Given the description of an element on the screen output the (x, y) to click on. 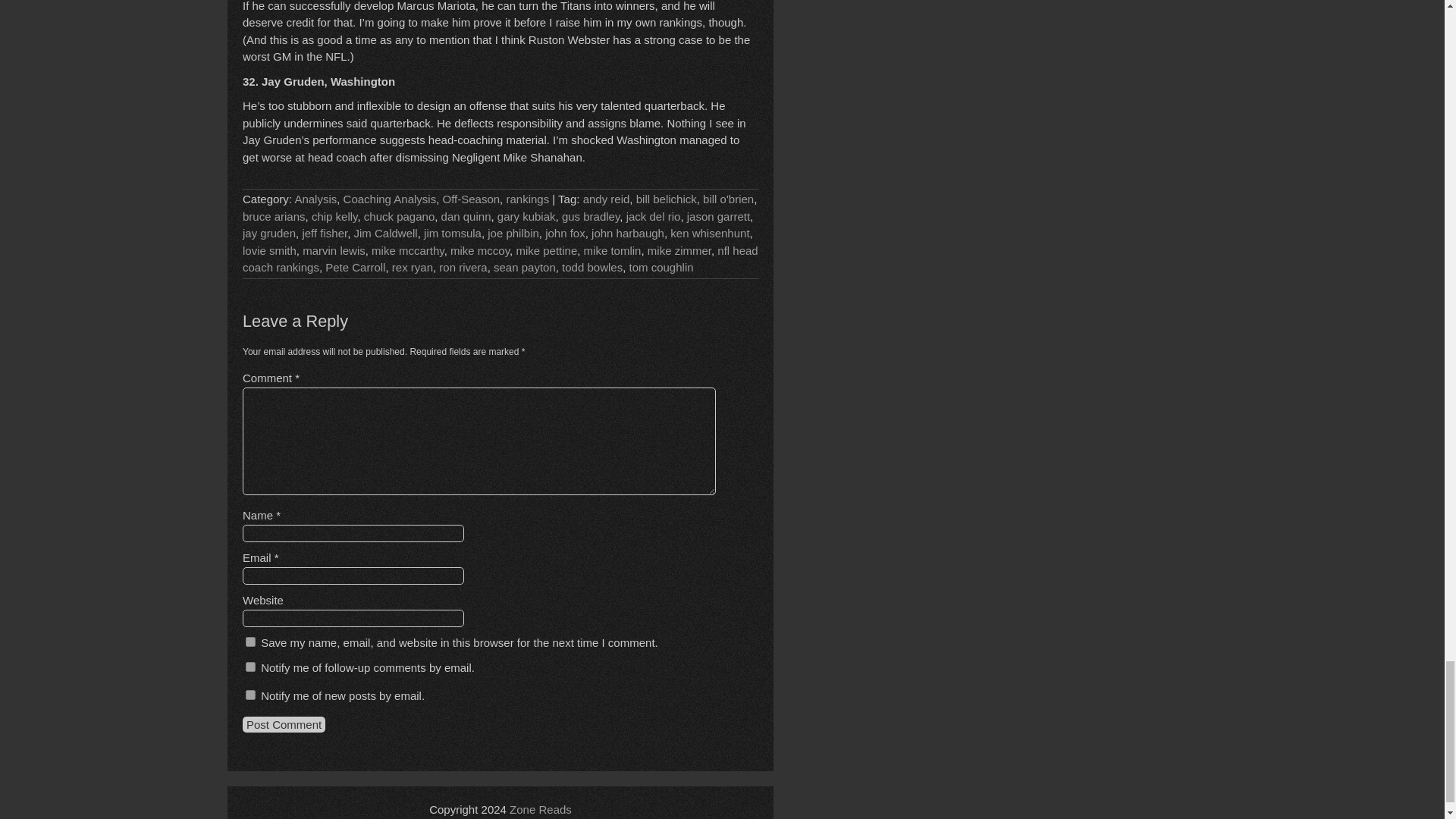
subscribe (251, 695)
Post Comment (283, 724)
subscribe (251, 666)
yes (251, 642)
